Given the description of an element on the screen output the (x, y) to click on. 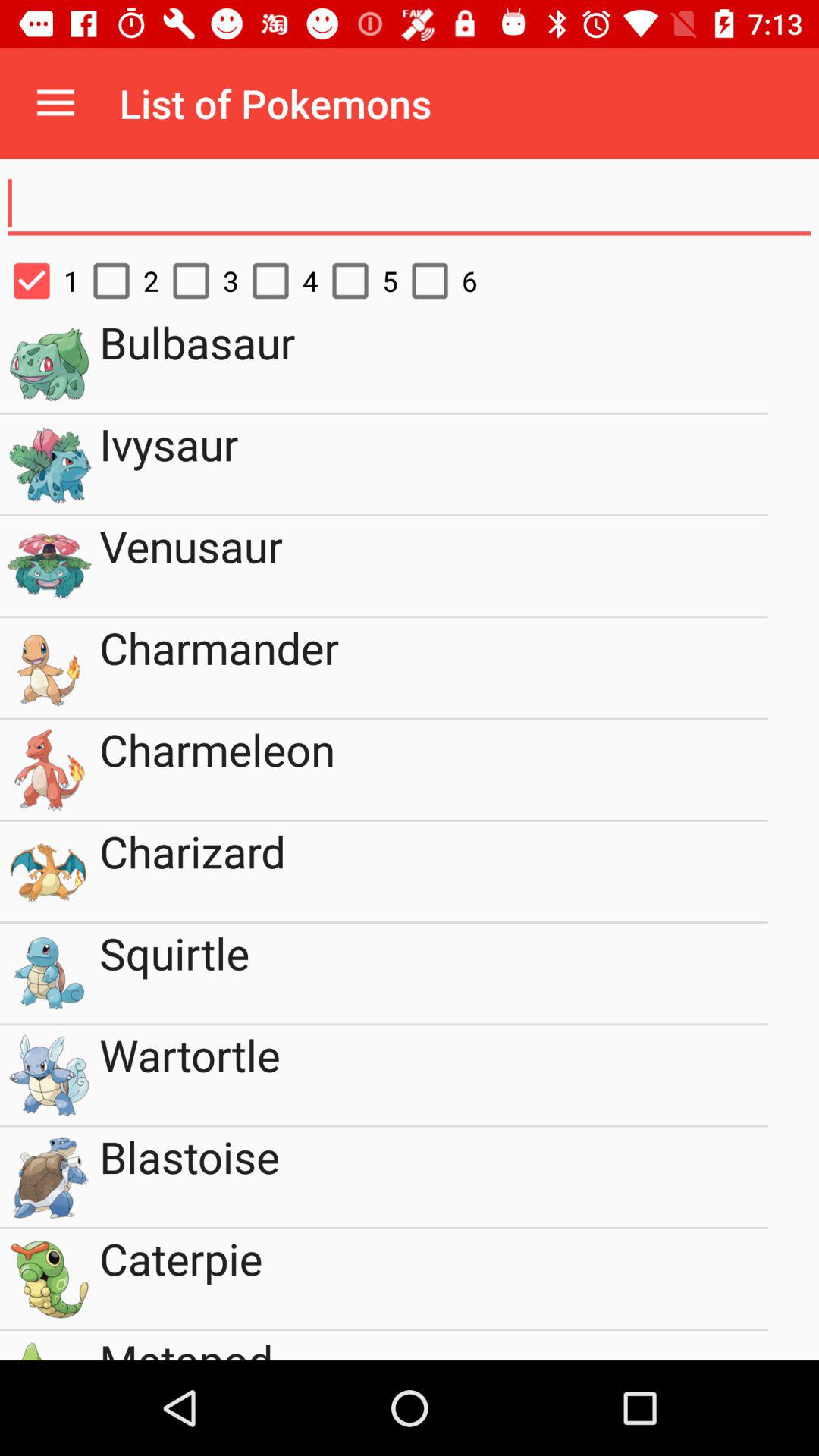
open the blastoise (433, 1176)
